Given the description of an element on the screen output the (x, y) to click on. 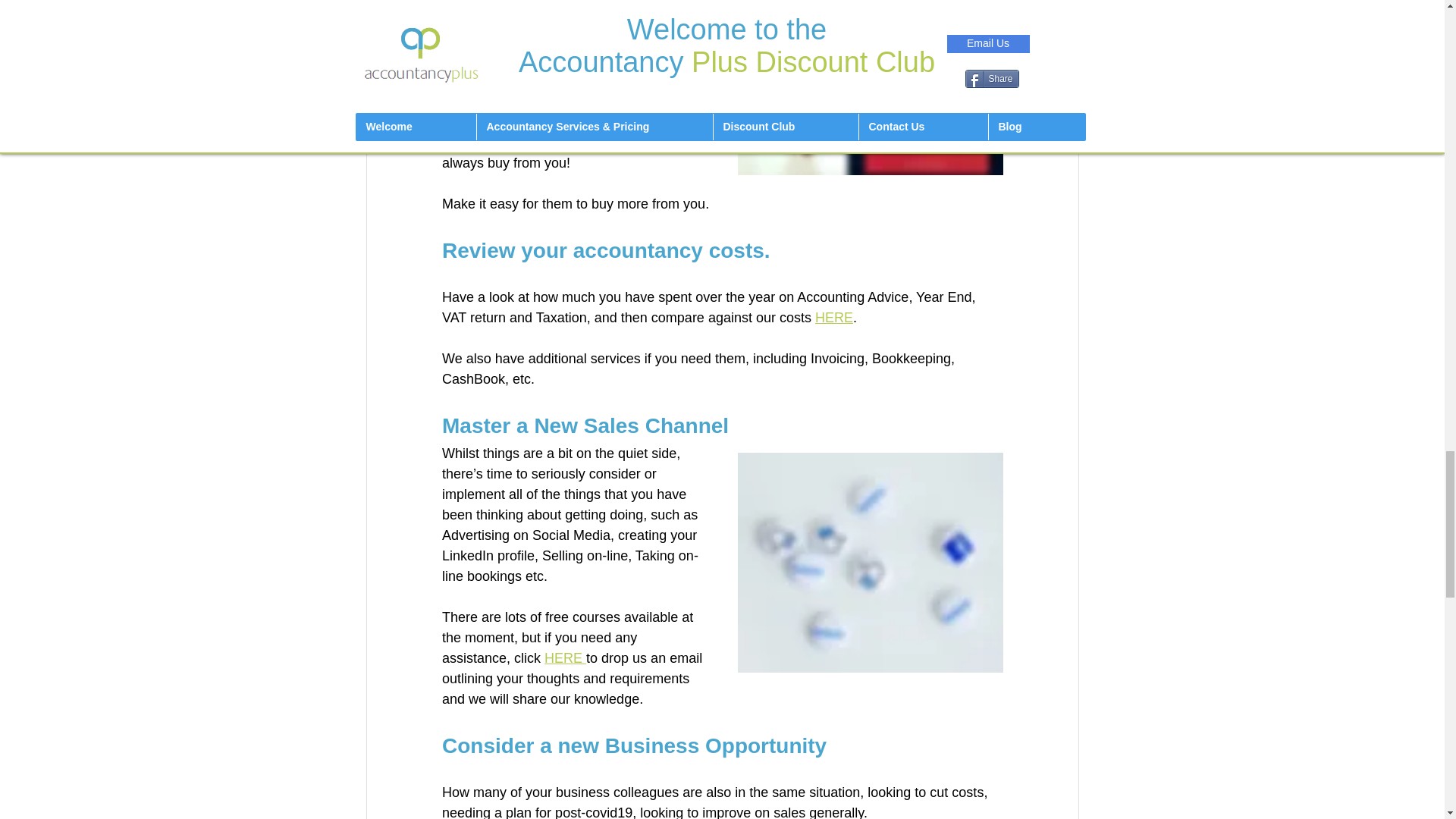
HERE (832, 317)
HERE  (565, 657)
